Given the description of an element on the screen output the (x, y) to click on. 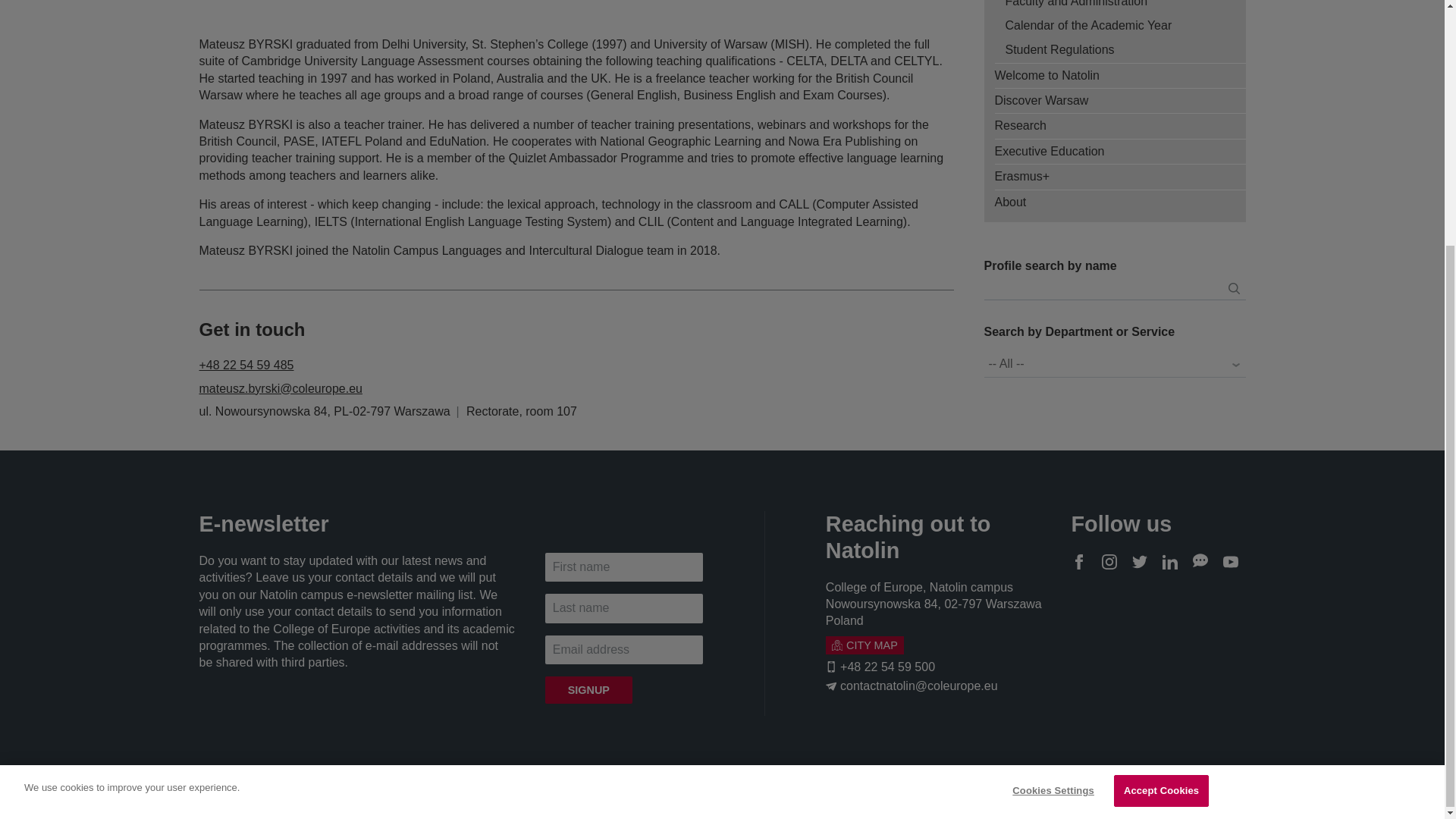
-- All -- (1115, 364)
Create (1233, 288)
Signup (587, 689)
